Given the description of an element on the screen output the (x, y) to click on. 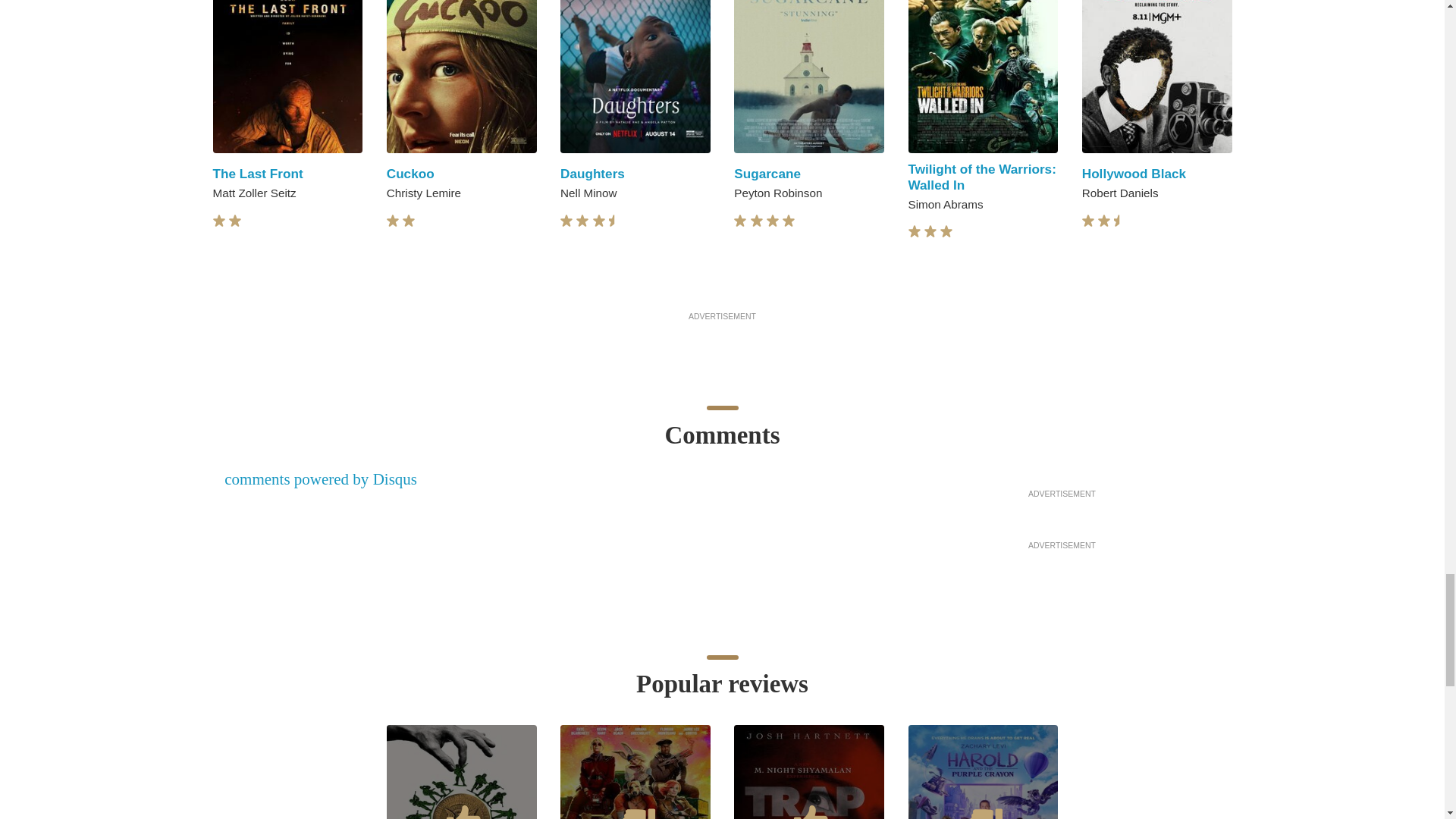
Daughters (592, 173)
star-full (598, 220)
Twilight of the Warriors: Walled In (982, 176)
The Last Front (257, 173)
star-full (739, 220)
star-full (218, 220)
star-full (566, 220)
comments powered by Disqus (320, 479)
Hollywood Black (1133, 173)
Cuckoo (410, 173)
